Given the description of an element on the screen output the (x, y) to click on. 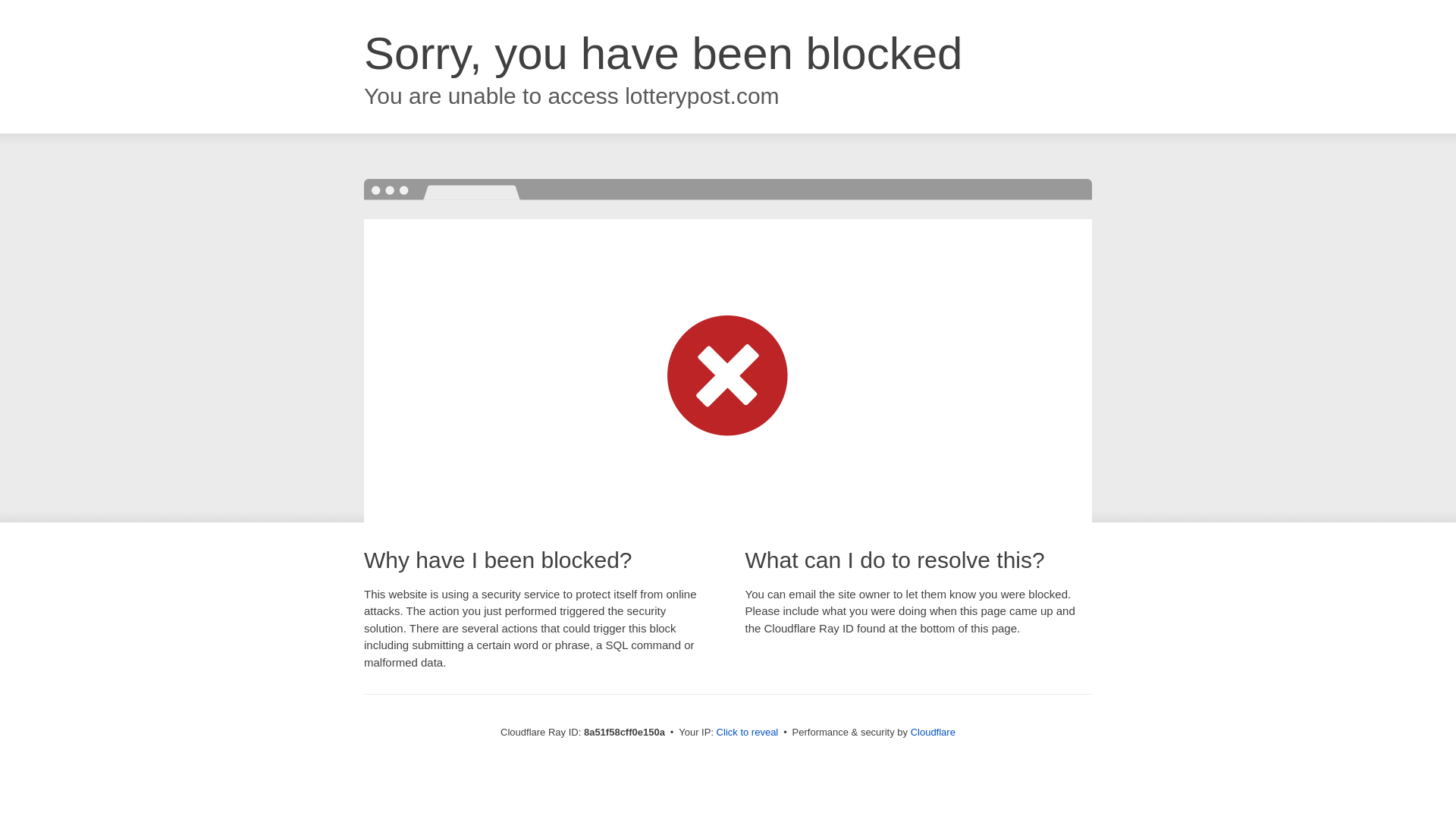
Click to reveal (747, 732)
Cloudflare (933, 731)
